Given the description of an element on the screen output the (x, y) to click on. 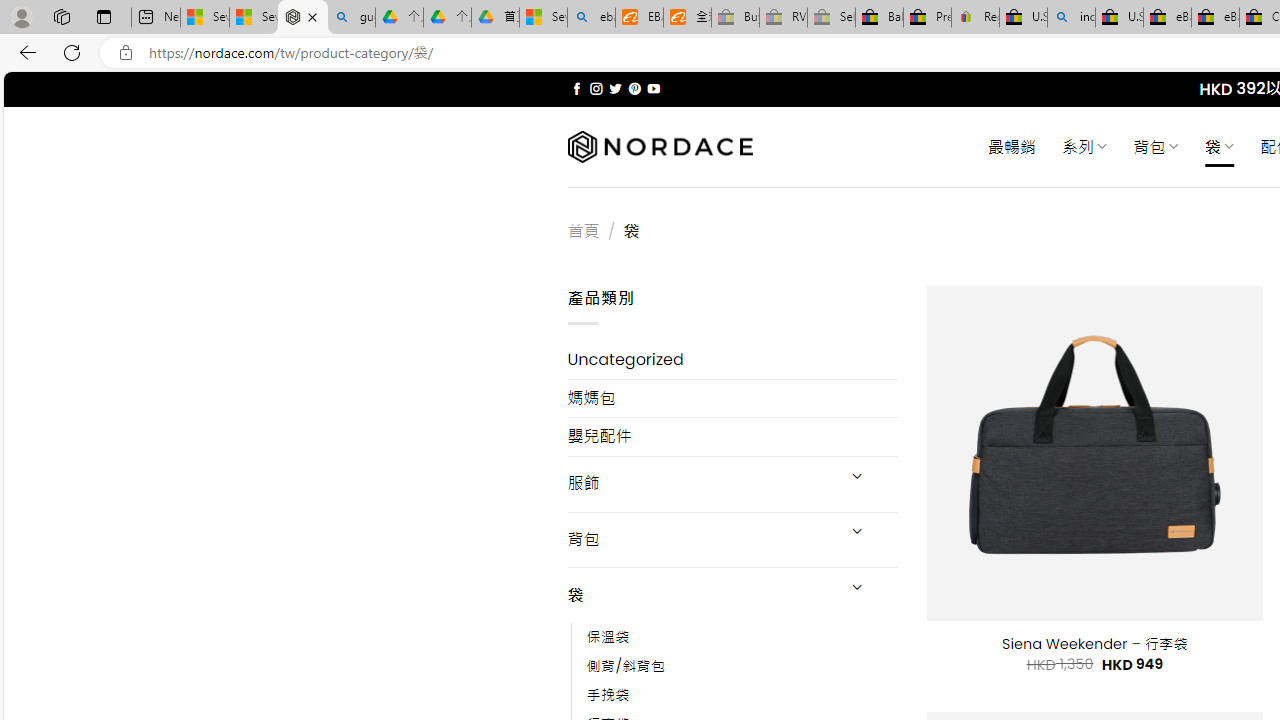
including - Search (1071, 17)
Follow on YouTube (653, 88)
eBay Inc. Reports Third Quarter 2023 Results (1215, 17)
Baby Keepsakes & Announcements for sale | eBay (879, 17)
